Given the description of an element on the screen output the (x, y) to click on. 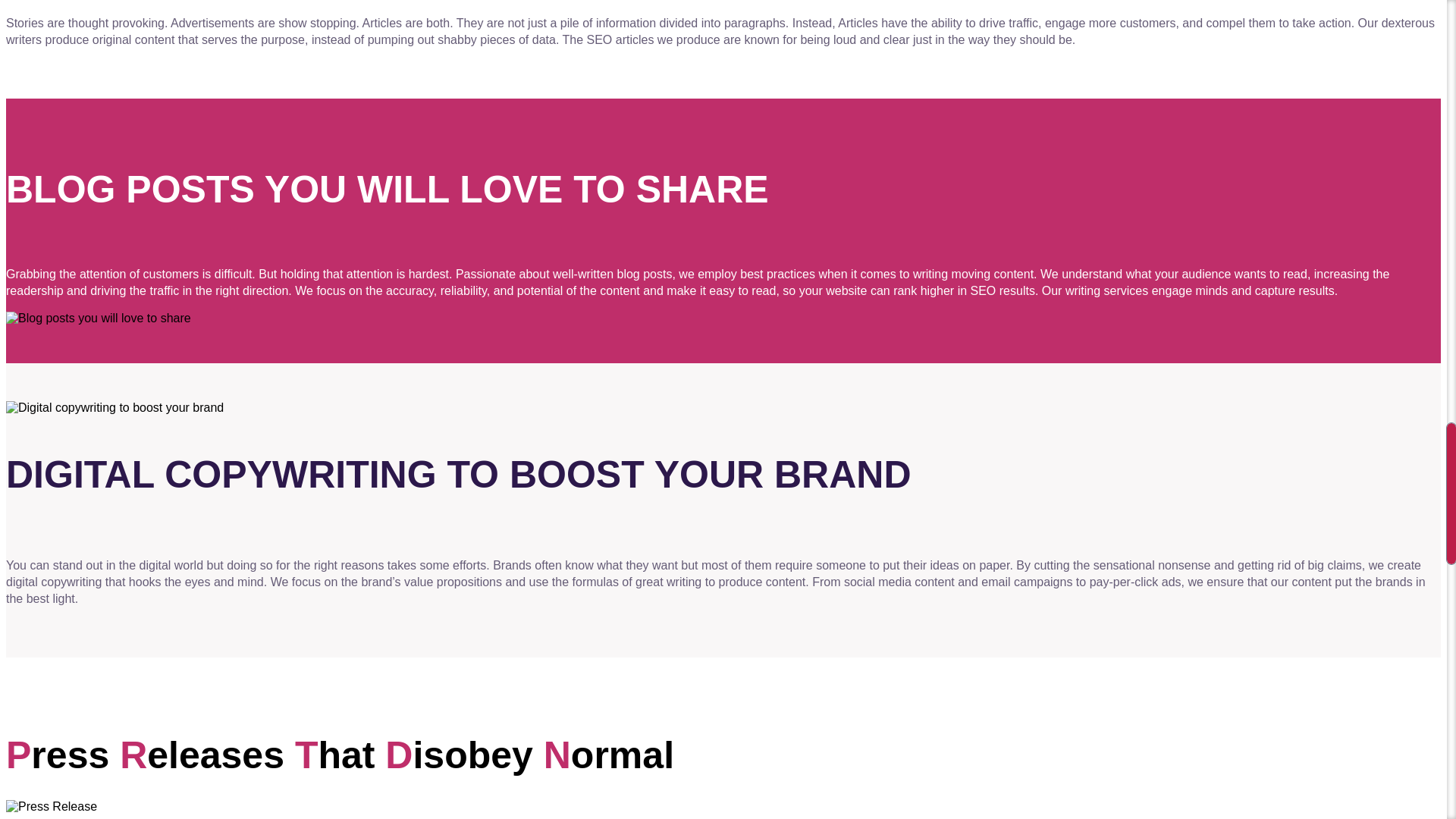
Digital copywriting to boost your brand (114, 407)
Press Release (51, 806)
Blog posts you will love to share (97, 317)
